Given the description of an element on the screen output the (x, y) to click on. 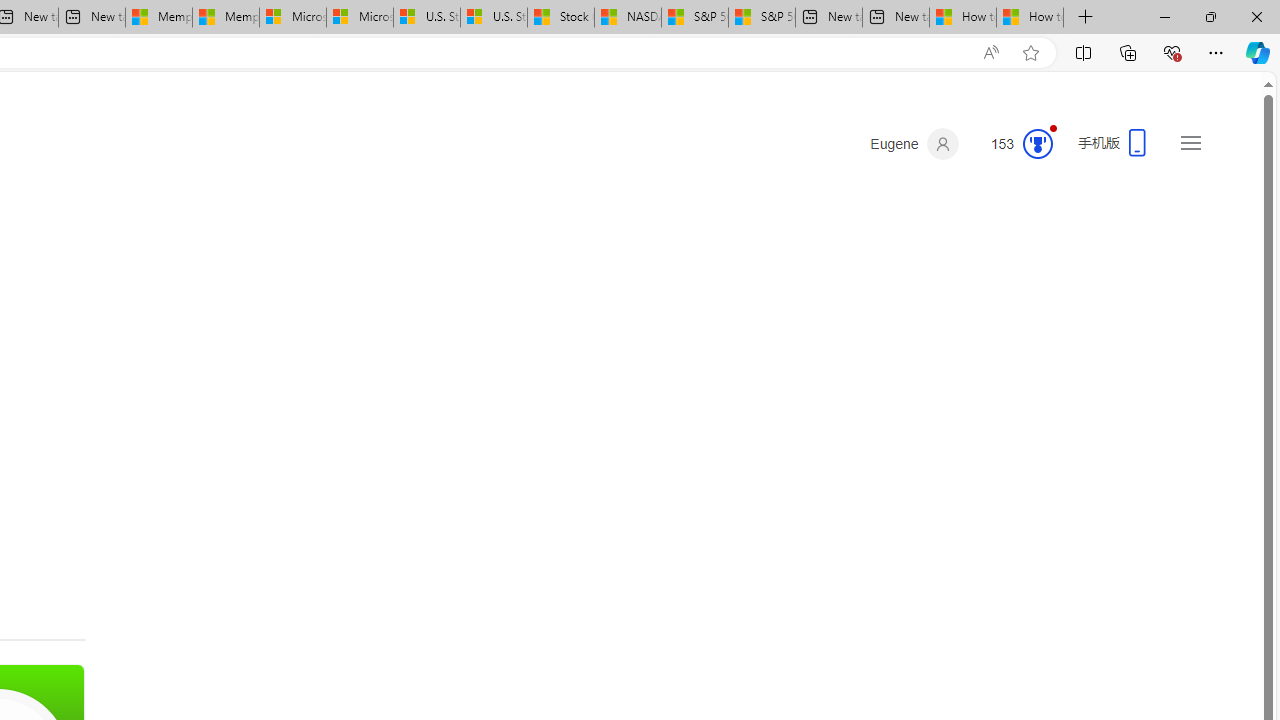
Settings and quick links (1190, 142)
Class: medal-circled (1037, 143)
Microsoft Rewards 153 (1014, 143)
Eugene (914, 143)
